Given the description of an element on the screen output the (x, y) to click on. 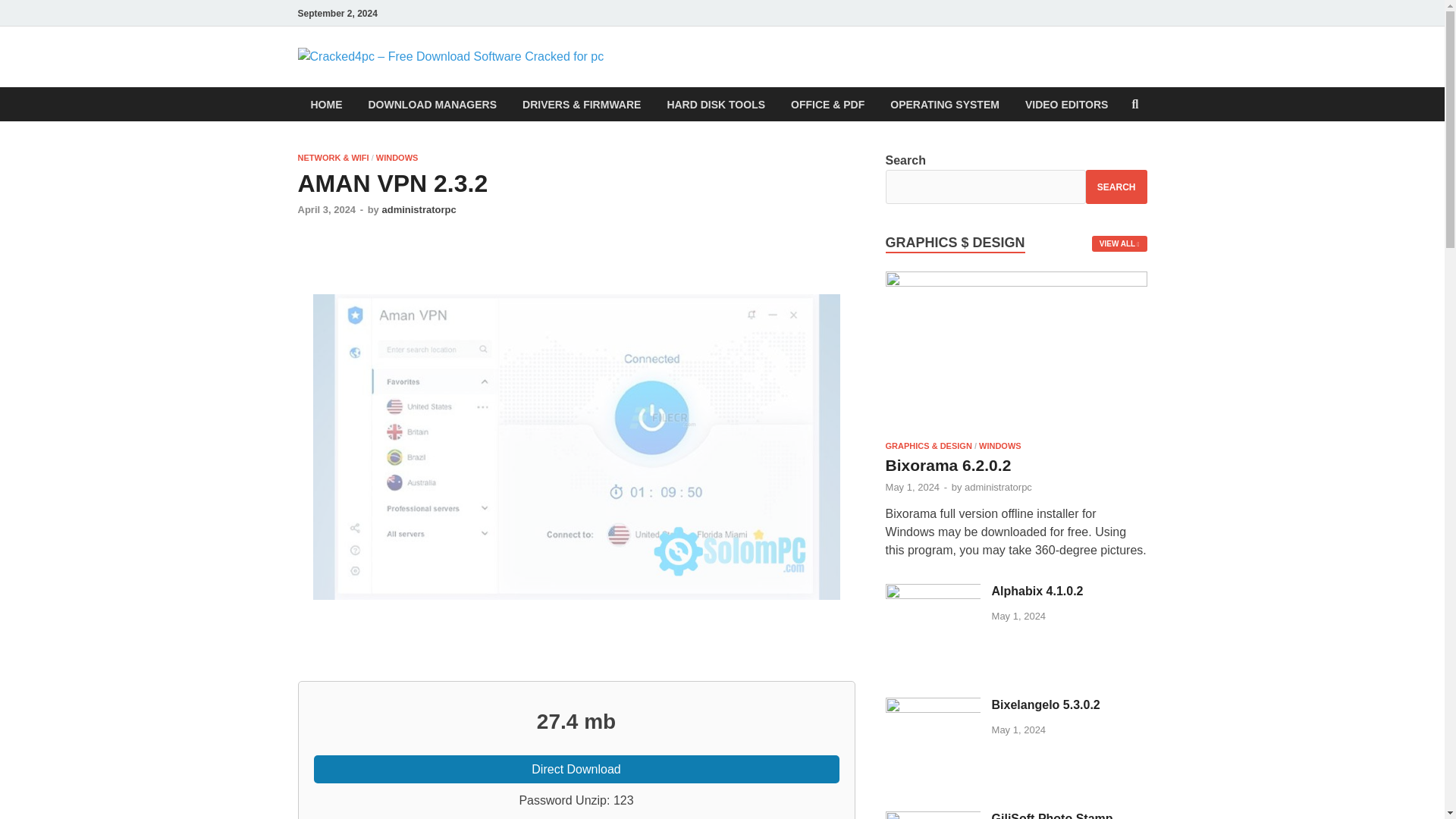
VIDEO EDITORS (1066, 103)
Direct Download (577, 769)
OPERATING SYSTEM (944, 103)
Alphabix 4.1.0.2 (932, 591)
Bixorama 6.2.0.2 (1016, 282)
WINDOWS (397, 157)
Bixelangelo 5.3.0.2 (932, 705)
GiliSoft Photo Stamp Remover Pro 9.9 (932, 816)
HARD DISK TOOLS (715, 103)
administratorpc (418, 209)
